Given the description of an element on the screen output the (x, y) to click on. 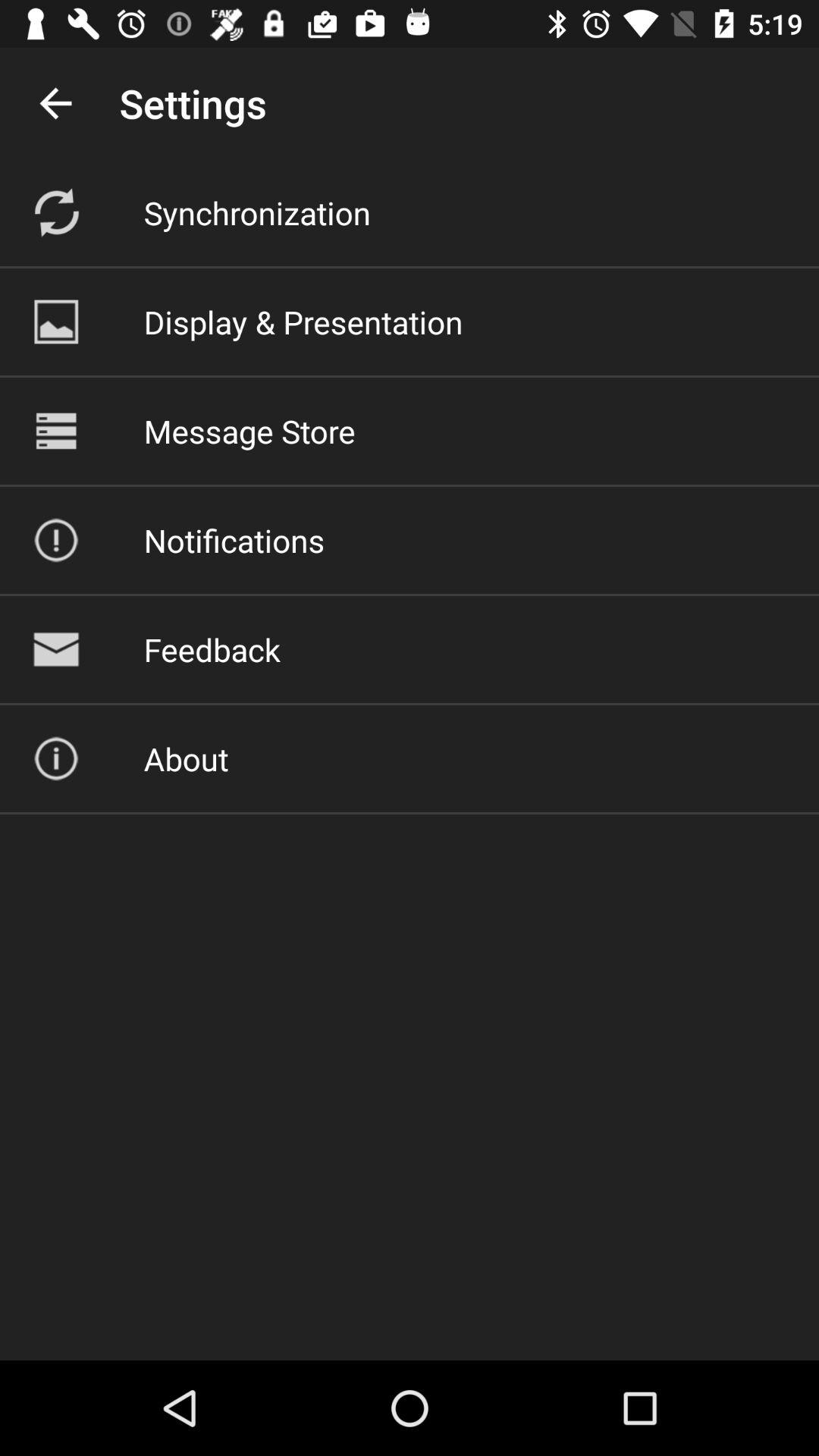
tap item below the settings item (256, 212)
